Given the description of an element on the screen output the (x, y) to click on. 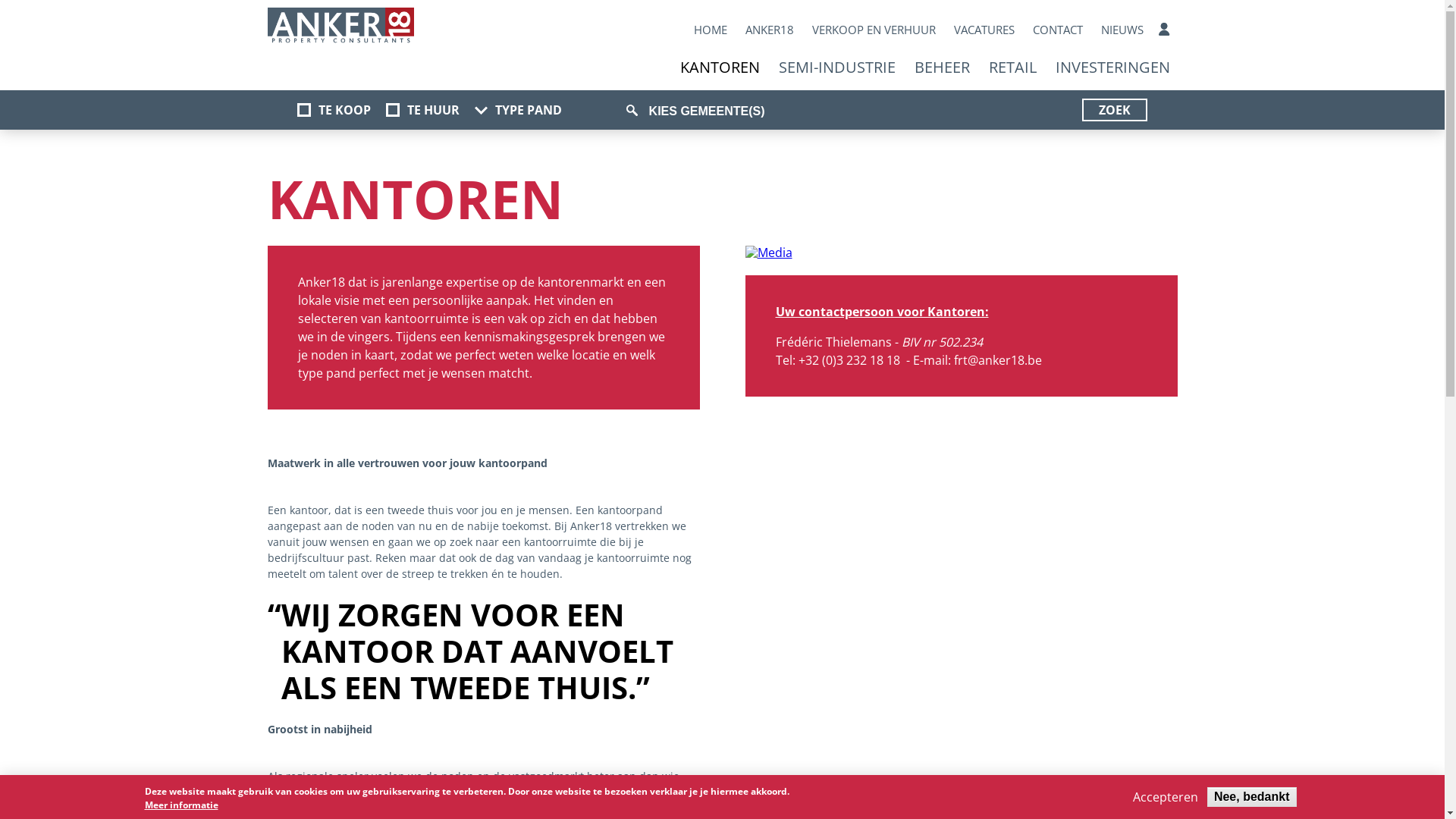
Meer informatie Element type: text (180, 804)
Accepteren Element type: text (1165, 796)
Overslaan en naar de inhoud gaan Element type: text (0, 0)
ANKER18 Element type: text (769, 29)
SEMI-INDUSTRIE Element type: text (836, 66)
Nee, bedankt Element type: text (1251, 796)
Home Element type: hover (339, 26)
NIEUWS Element type: text (1122, 29)
INVESTERINGEN Element type: text (1112, 66)
VERKOOP EN VERHUUR Element type: text (873, 29)
RETAIL Element type: text (1012, 66)
KANTOREN Element type: text (719, 66)
ZOEK Element type: text (1114, 109)
VACATURES Element type: text (983, 29)
BEHEER Element type: text (941, 66)
CONTACT Element type: text (1057, 29)
HOME Element type: text (710, 29)
